Given the description of an element on the screen output the (x, y) to click on. 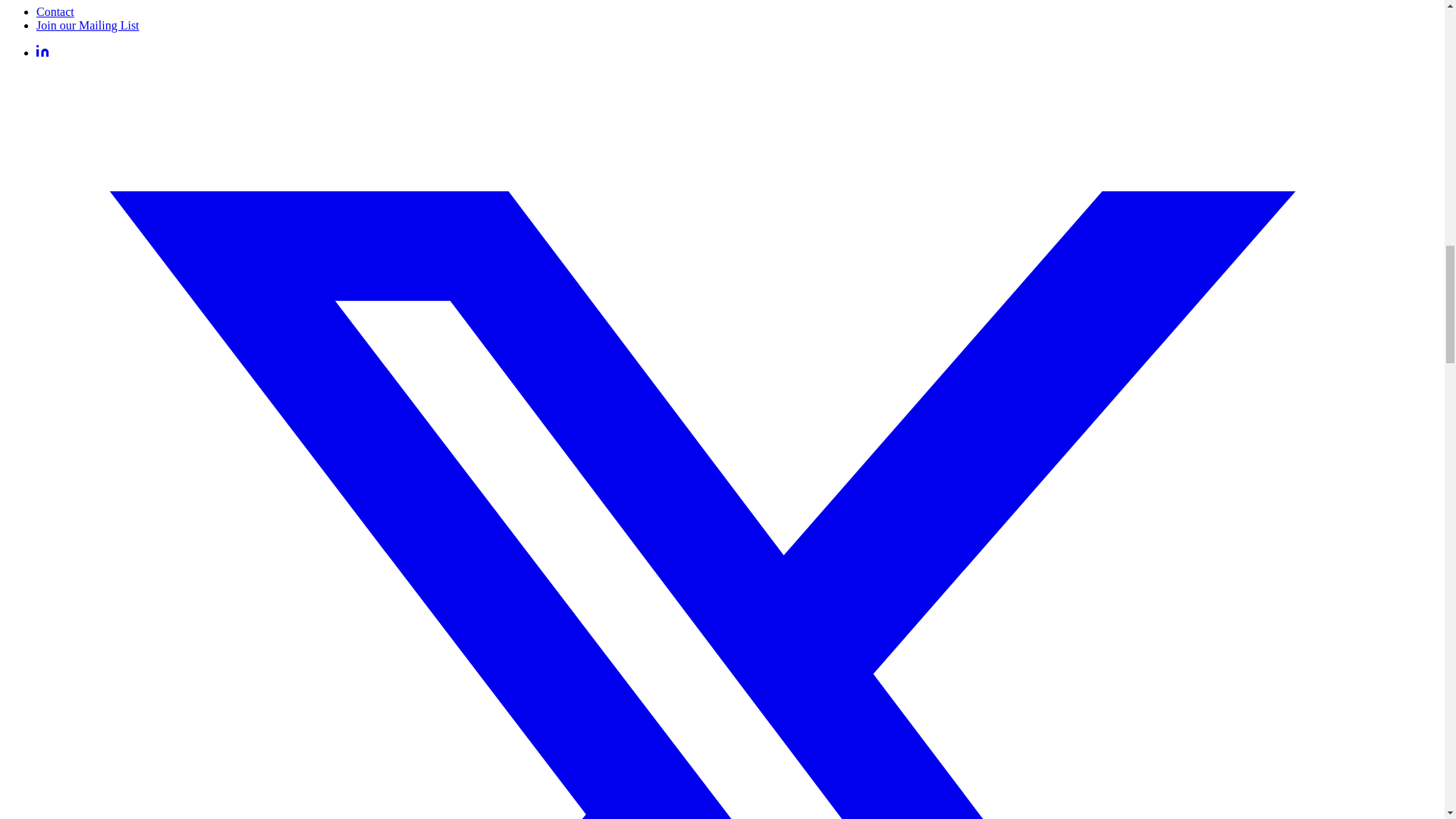
linkedin (42, 51)
Contact (55, 11)
Join our Mailing List (87, 24)
